Given the description of an element on the screen output the (x, y) to click on. 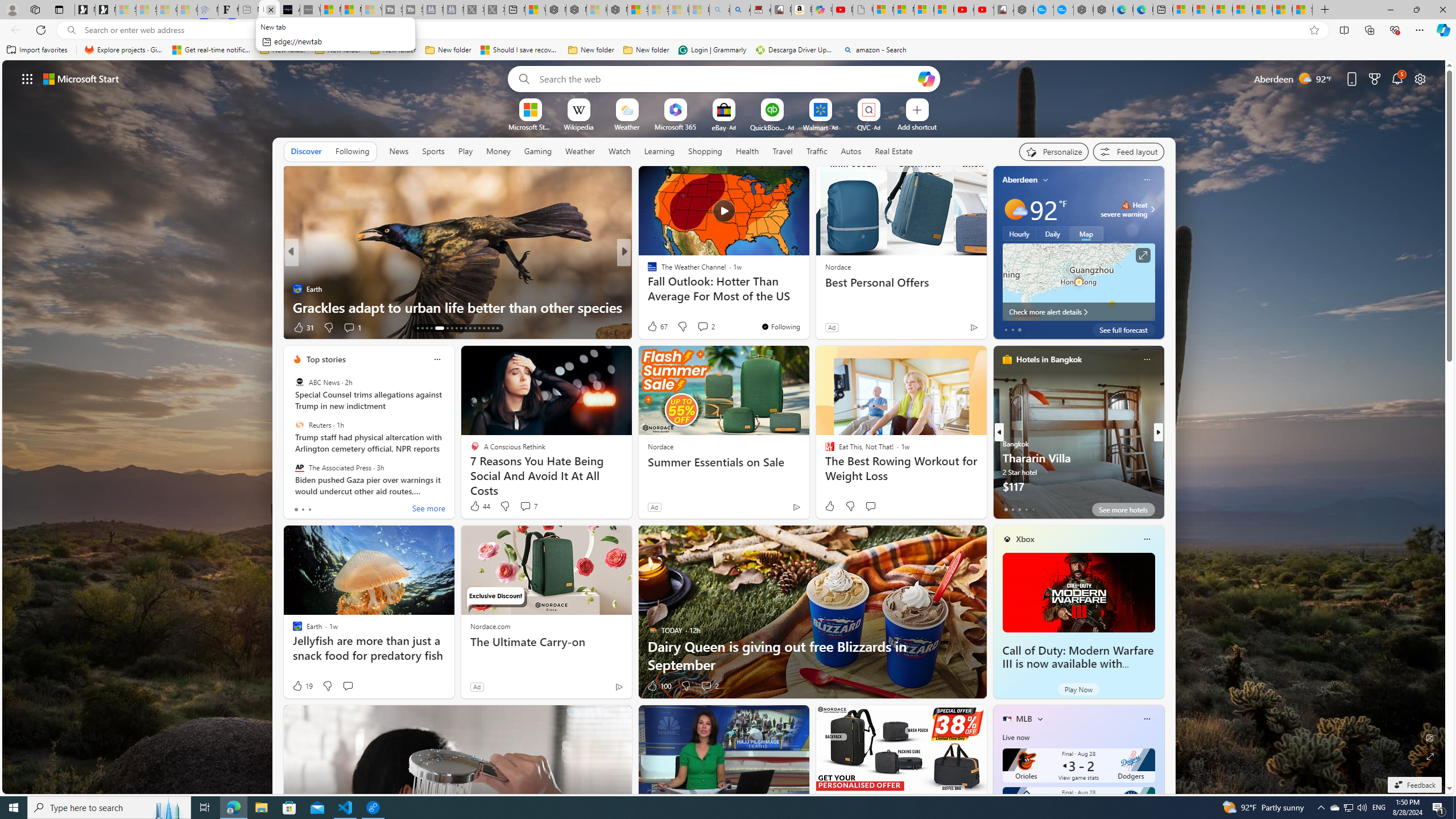
AutomationID: tab-29 (478, 328)
Cents + Purpose (647, 288)
Weather (579, 151)
Expand background (1430, 756)
AutomationID: waffle (27, 78)
Microsoft account | Microsoft Account Privacy Settings (1202, 9)
AutomationID: tab-24 (456, 328)
Top 5 Scary Videos (647, 288)
Microsoft account | Privacy (1242, 9)
Watch (619, 151)
Tom's Guide (647, 270)
Temperature Trends Spell Disaster For This Age Group (807, 298)
Autos (850, 151)
tab-0 (1005, 509)
